Given the description of an element on the screen output the (x, y) to click on. 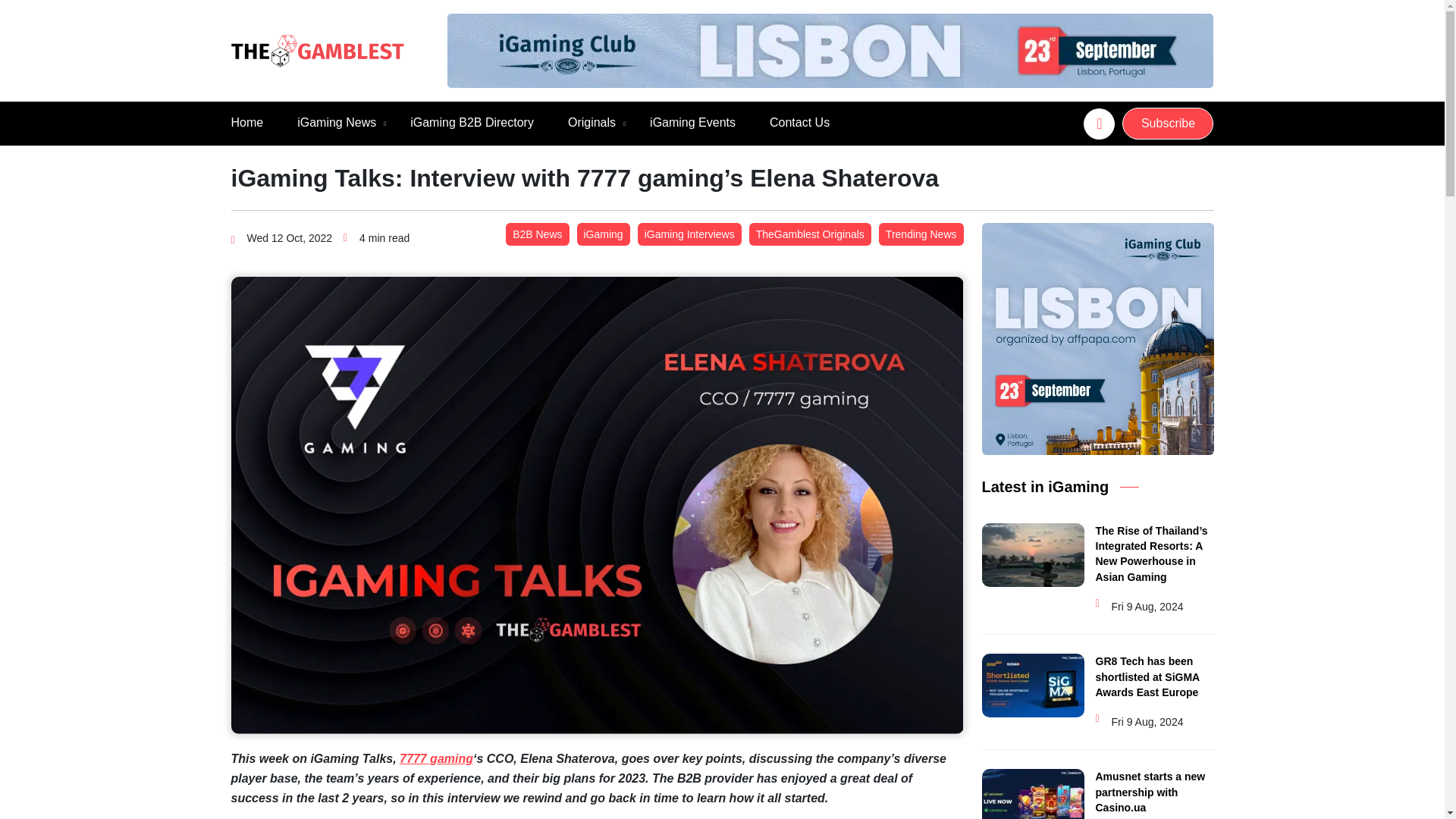
iGaming News (336, 123)
Contact Us (799, 123)
iGaming Events (692, 123)
iGaming Interviews (689, 233)
iGaming B2B Directory (472, 123)
B2B News (537, 233)
iGaming News (336, 123)
1150x110 (829, 50)
iGaming (602, 233)
TheGamblest Logo (316, 51)
